Given the description of an element on the screen output the (x, y) to click on. 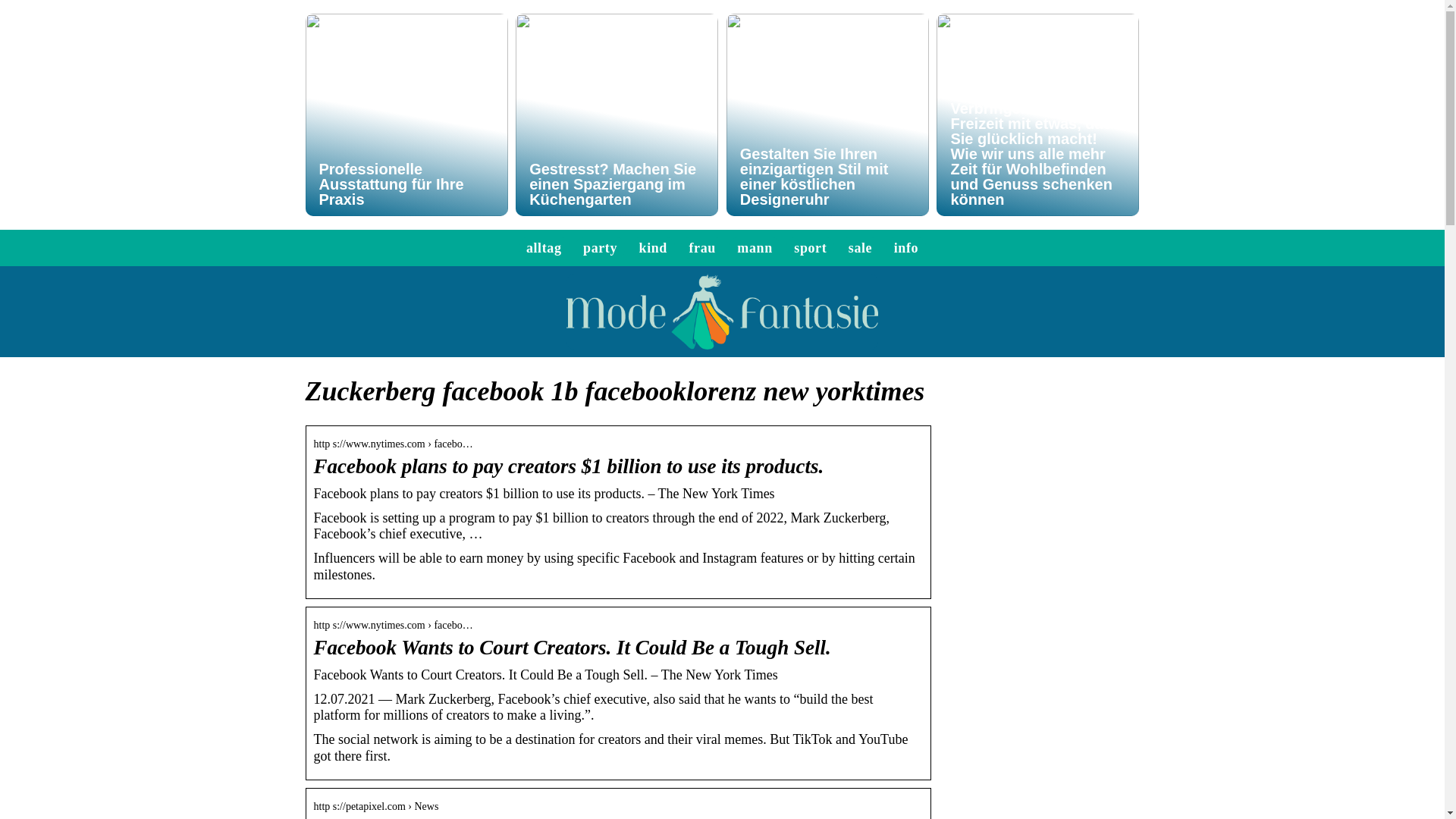
sport (810, 247)
alltag (543, 247)
kind (652, 247)
sale (860, 247)
mann (753, 247)
party (600, 247)
info (905, 247)
frau (701, 247)
